Given the description of an element on the screen output the (x, y) to click on. 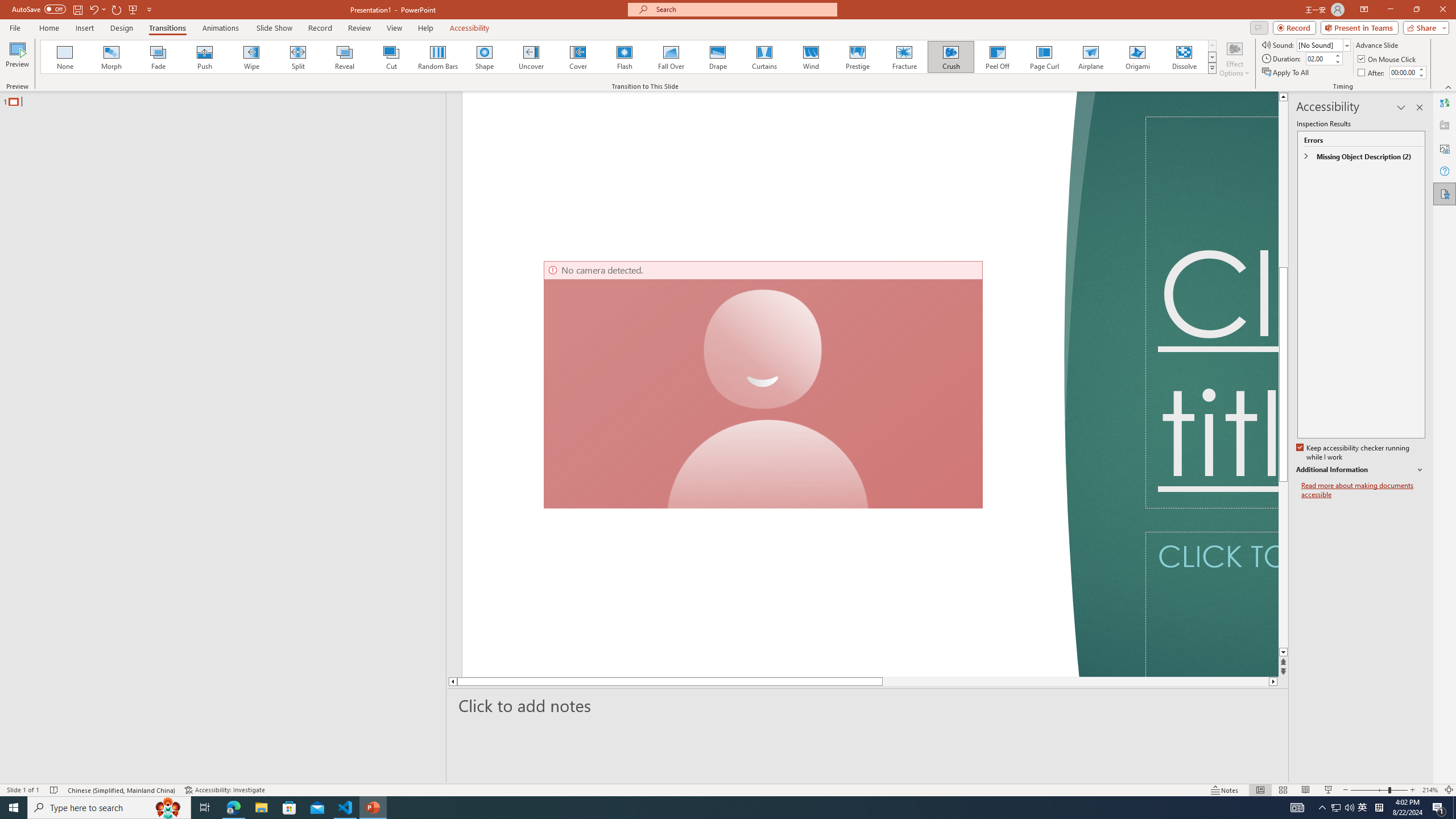
Wind (810, 56)
Reveal (344, 56)
